Given the description of an element on the screen output the (x, y) to click on. 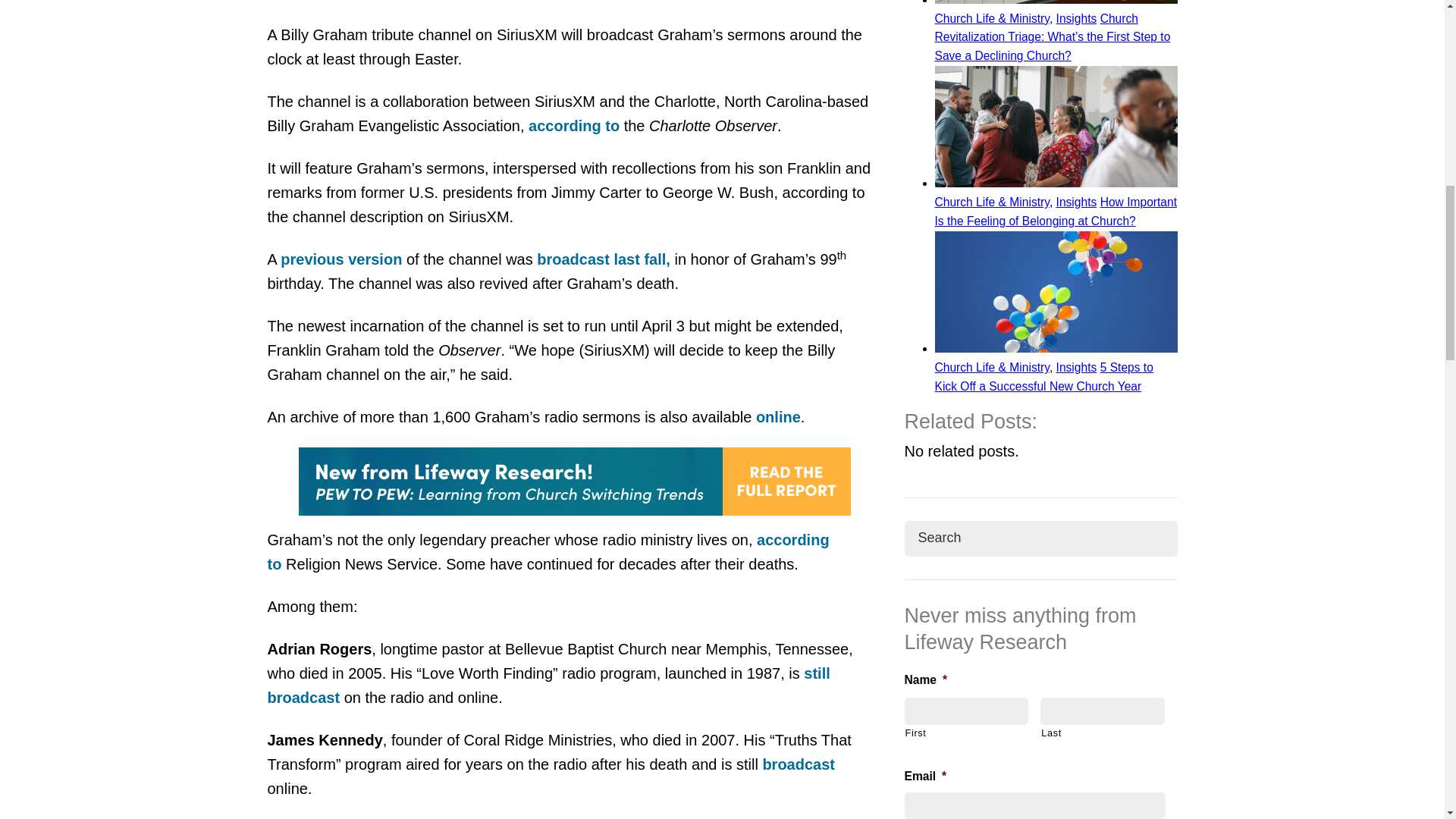
according to (547, 551)
still broadcast (547, 685)
according to (574, 125)
previous version (341, 258)
broadcast last fall, (603, 258)
online (777, 416)
broadcast (797, 764)
